Given the description of an element on the screen output the (x, y) to click on. 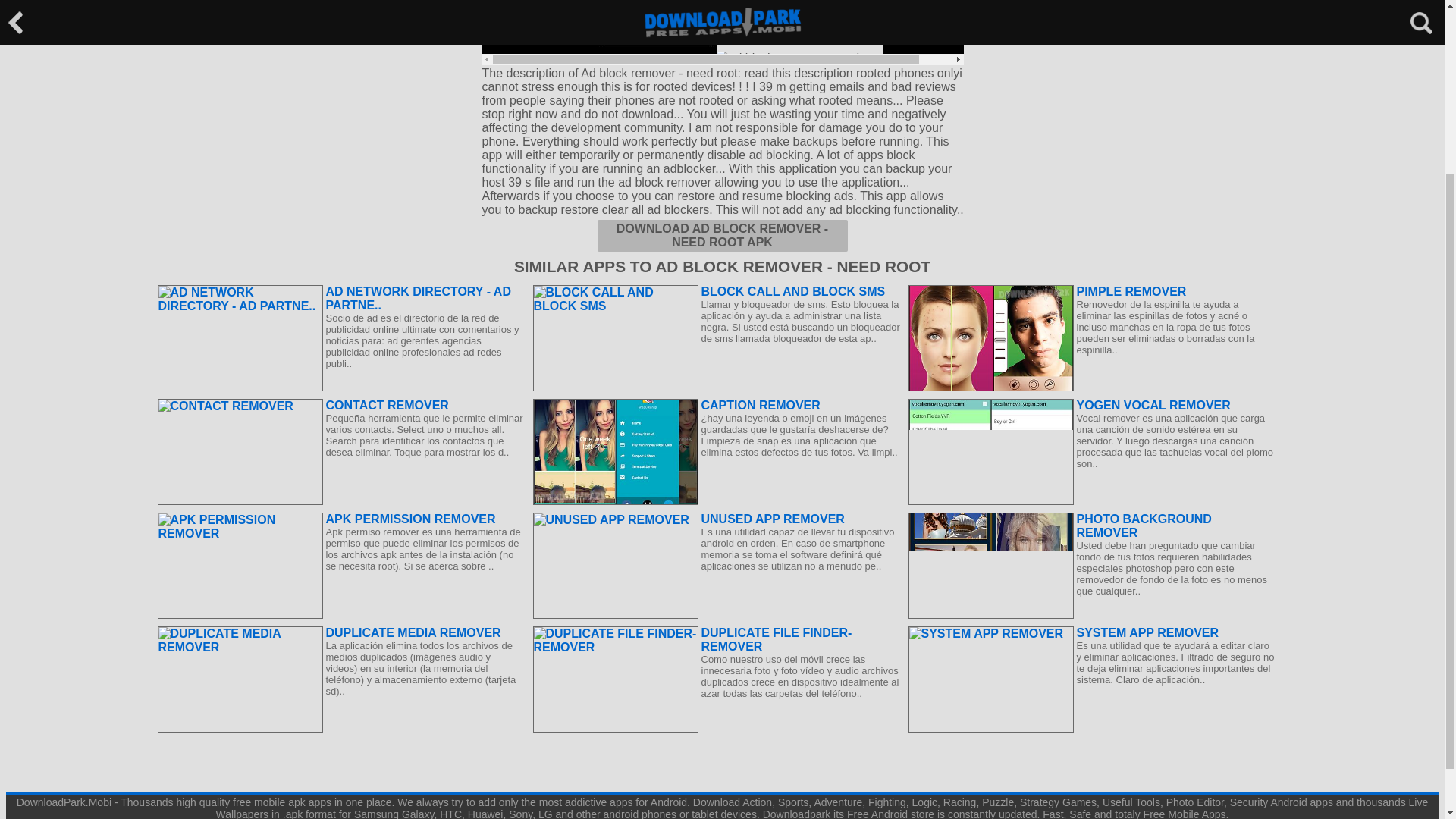
AD NETWORK DIRECTORY - AD PARTNE.. (341, 298)
PHOTO BACKGROUND REMOVER (1092, 525)
BLOCK CALL AND BLOCK SMS (715, 291)
PIMPLE REMOVER (1092, 291)
CAPTION REMOVER (715, 405)
YOGEN VOCAL REMOVER (1092, 405)
DUPLICATE MEDIA REMOVER (341, 632)
DUPLICATE FILE FINDER-REMOVER (715, 639)
UNUSED APP REMOVER (715, 519)
DOWNLOAD AD BLOCK REMOVER - NEED ROOT APK (721, 235)
